Given the description of an element on the screen output the (x, y) to click on. 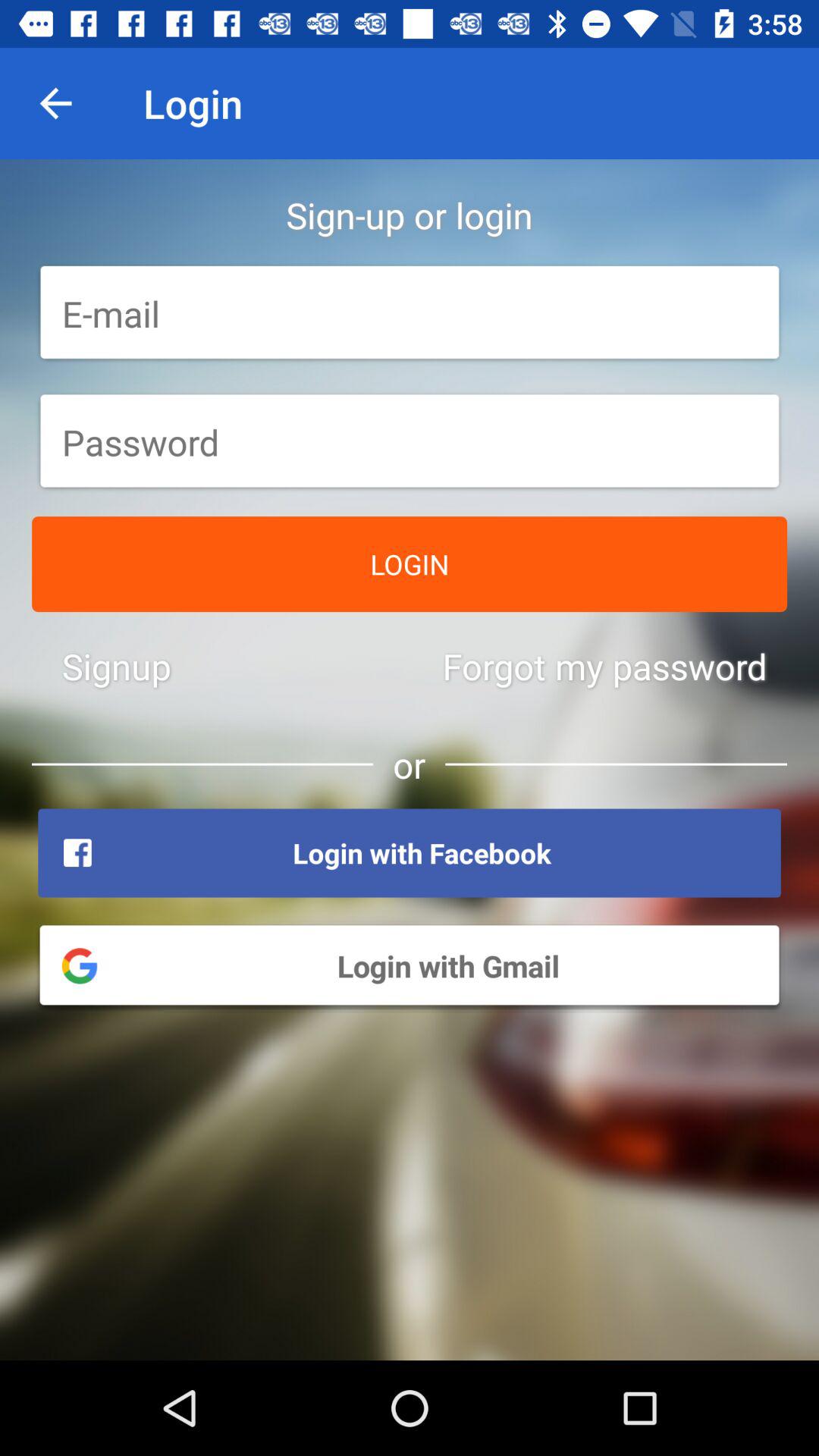
turn on icon to the left of the forgot my password (116, 665)
